Given the description of an element on the screen output the (x, y) to click on. 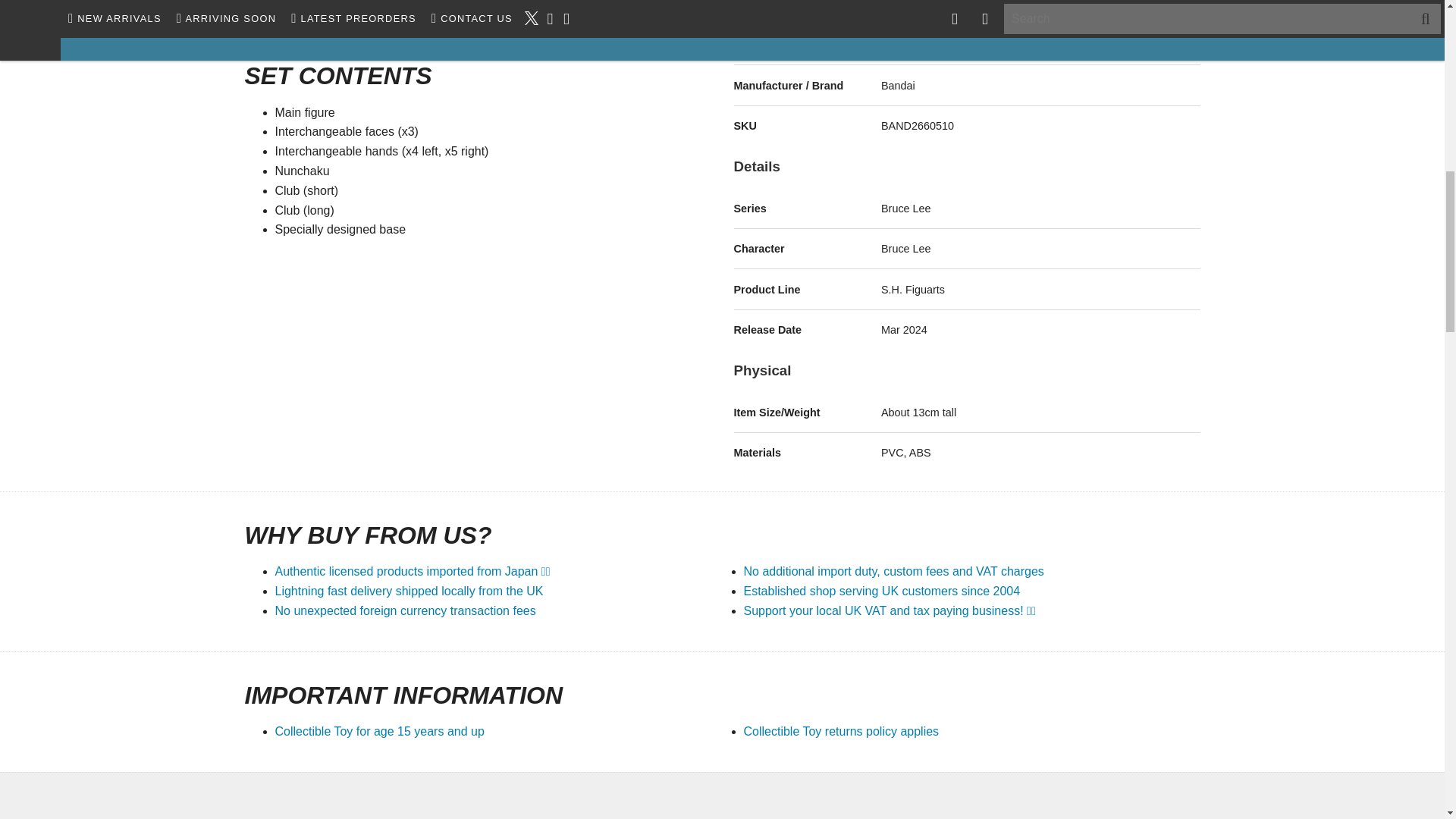
Collectible Toy for age 15 years and up (379, 730)
No additional import duty, custom fees and VAT charges (892, 571)
Collectible Toy returns policy applies (840, 730)
No unexpected foreign currency transaction fees (405, 610)
Lightning fast delivery shipped locally from the UK (409, 590)
Established shop serving UK customers since 2004 (881, 590)
